Given the description of an element on the screen output the (x, y) to click on. 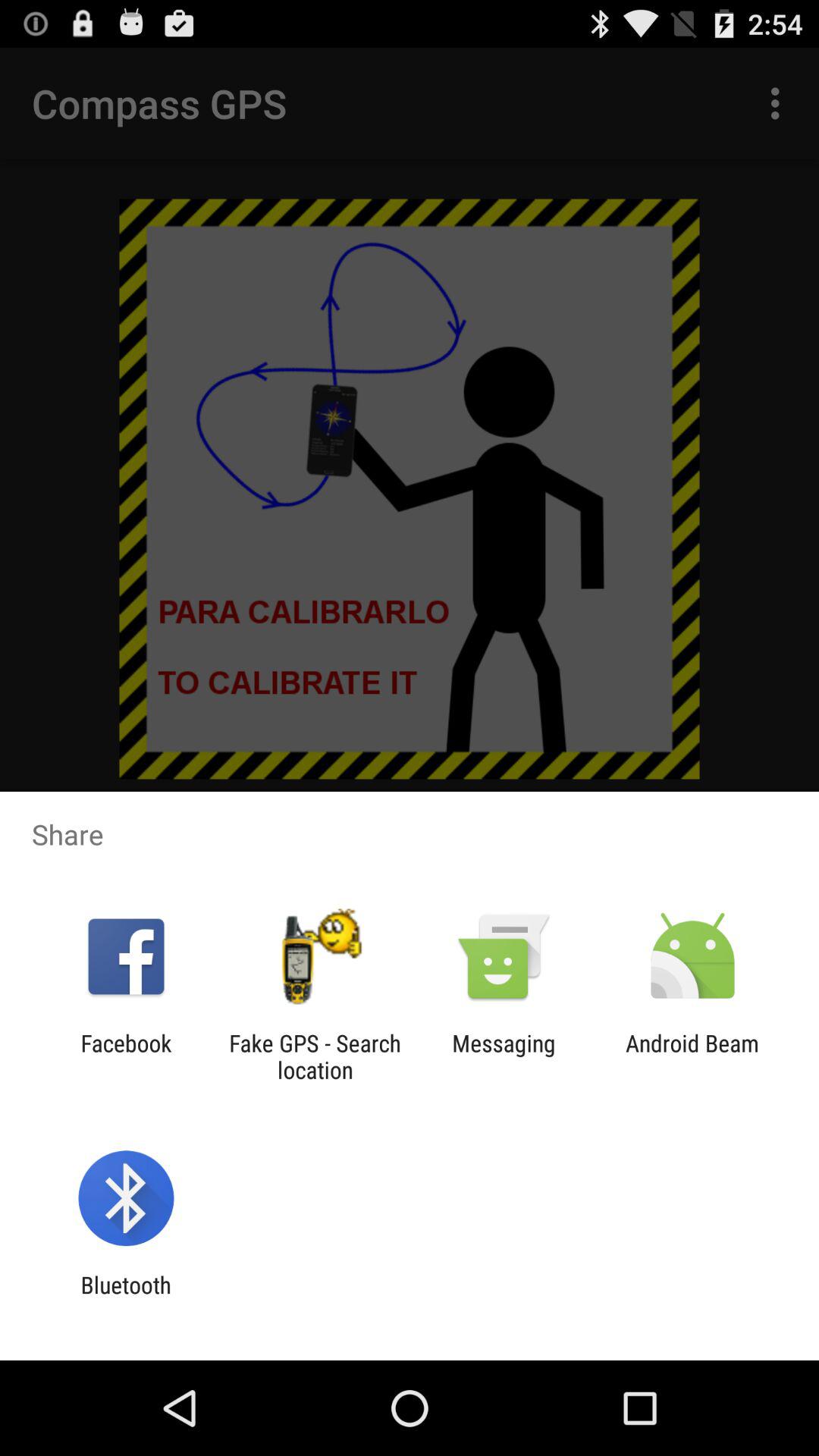
tap the app next to fake gps search item (125, 1056)
